Given the description of an element on the screen output the (x, y) to click on. 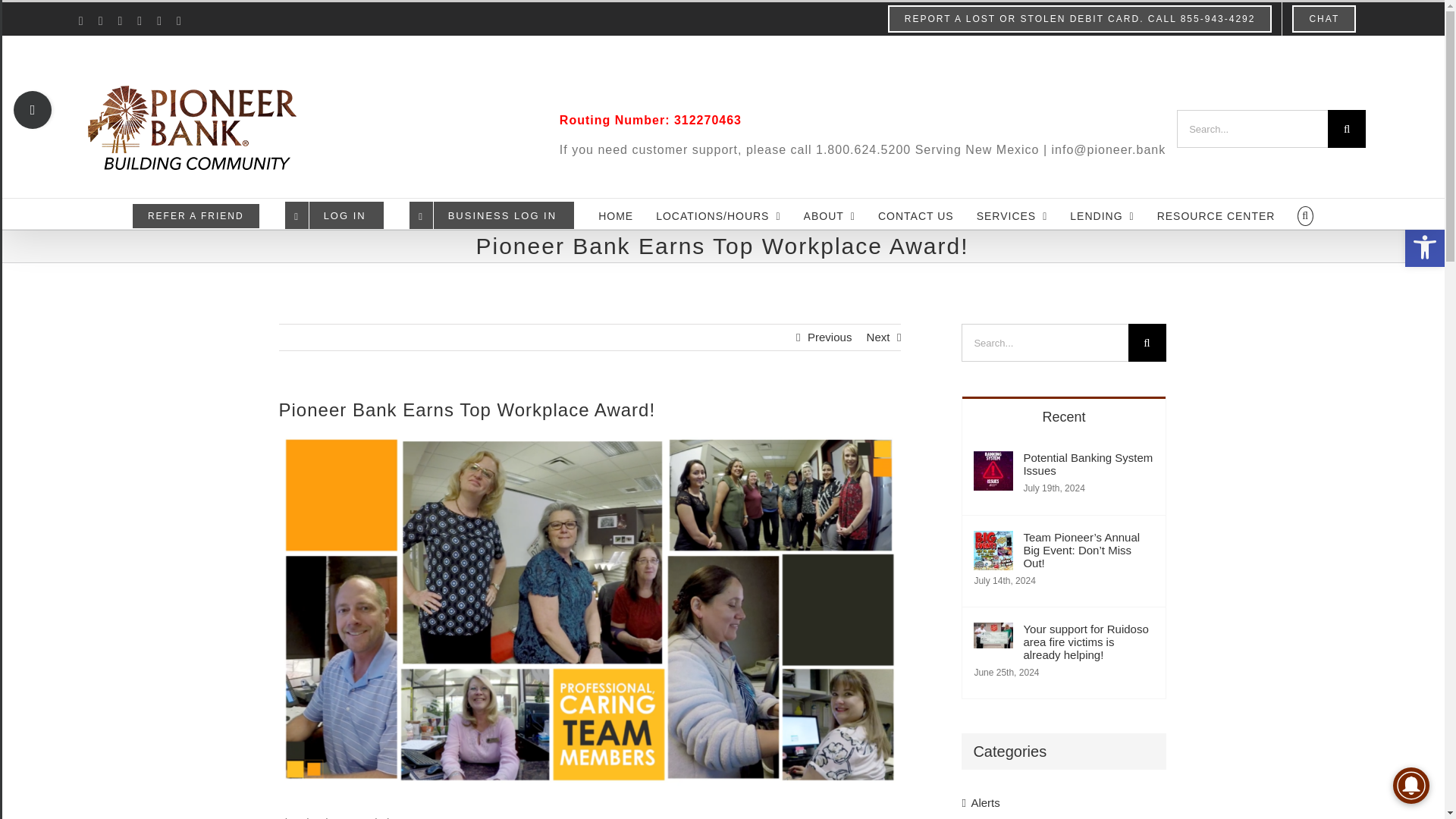
REPORT A LOST OR STOLEN DEBIT CARD. CALL 855-943-4292 (1079, 19)
HOME (615, 214)
BUSINESS LOG IN (491, 214)
REFER A FRIEND (195, 214)
LOG IN (334, 214)
CHAT (1323, 19)
Accessibility Tools (1424, 247)
